Given the description of an element on the screen output the (x, y) to click on. 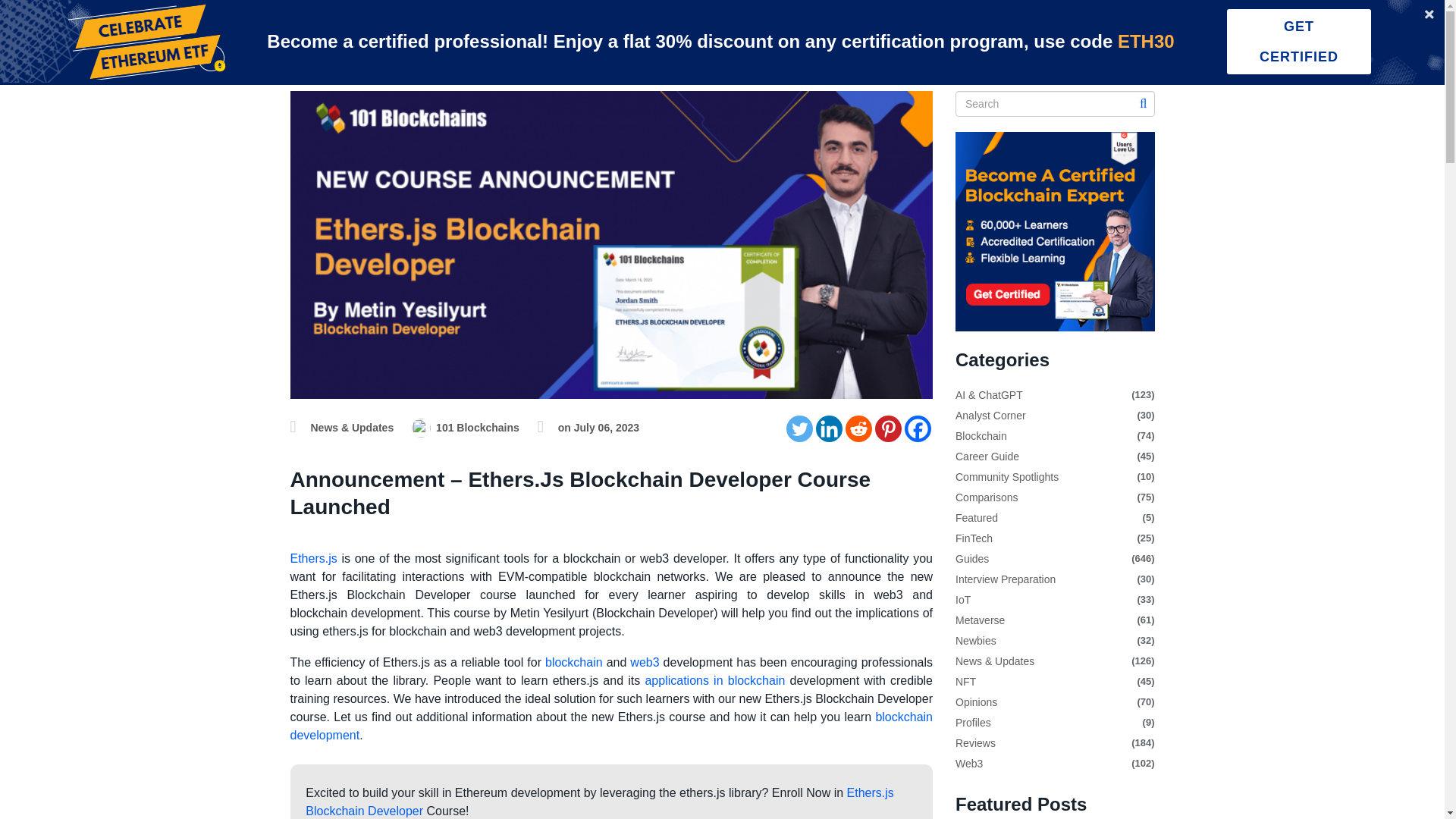
Reddit (858, 428)
Facebook (917, 428)
Linkedin (829, 428)
Twitter (799, 428)
GET CERTIFIED (1299, 41)
Training Library (307, 26)
Pinterest (888, 428)
